Given the description of an element on the screen output the (x, y) to click on. 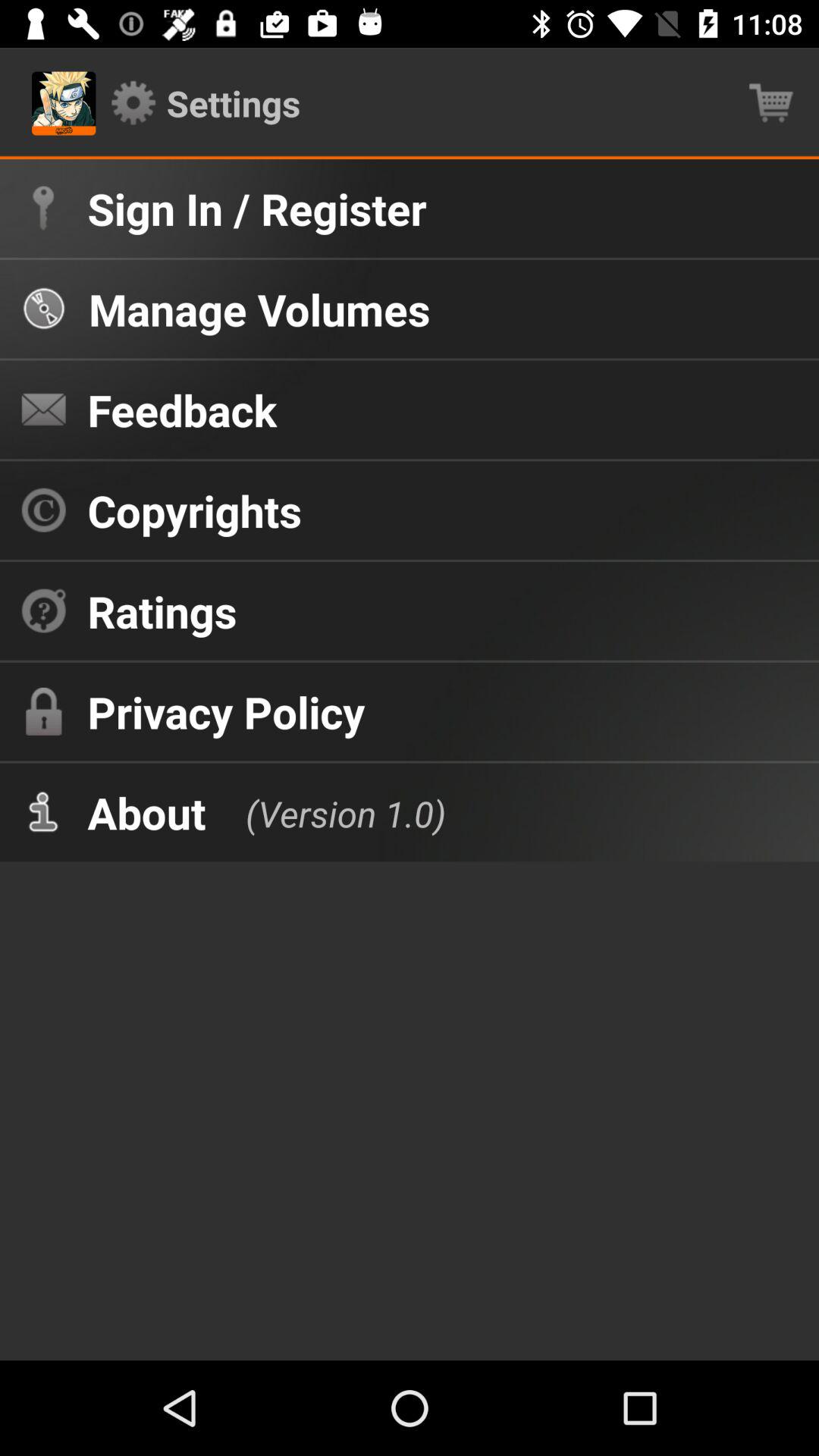
press item below the manage volumes (181, 409)
